Given the description of an element on the screen output the (x, y) to click on. 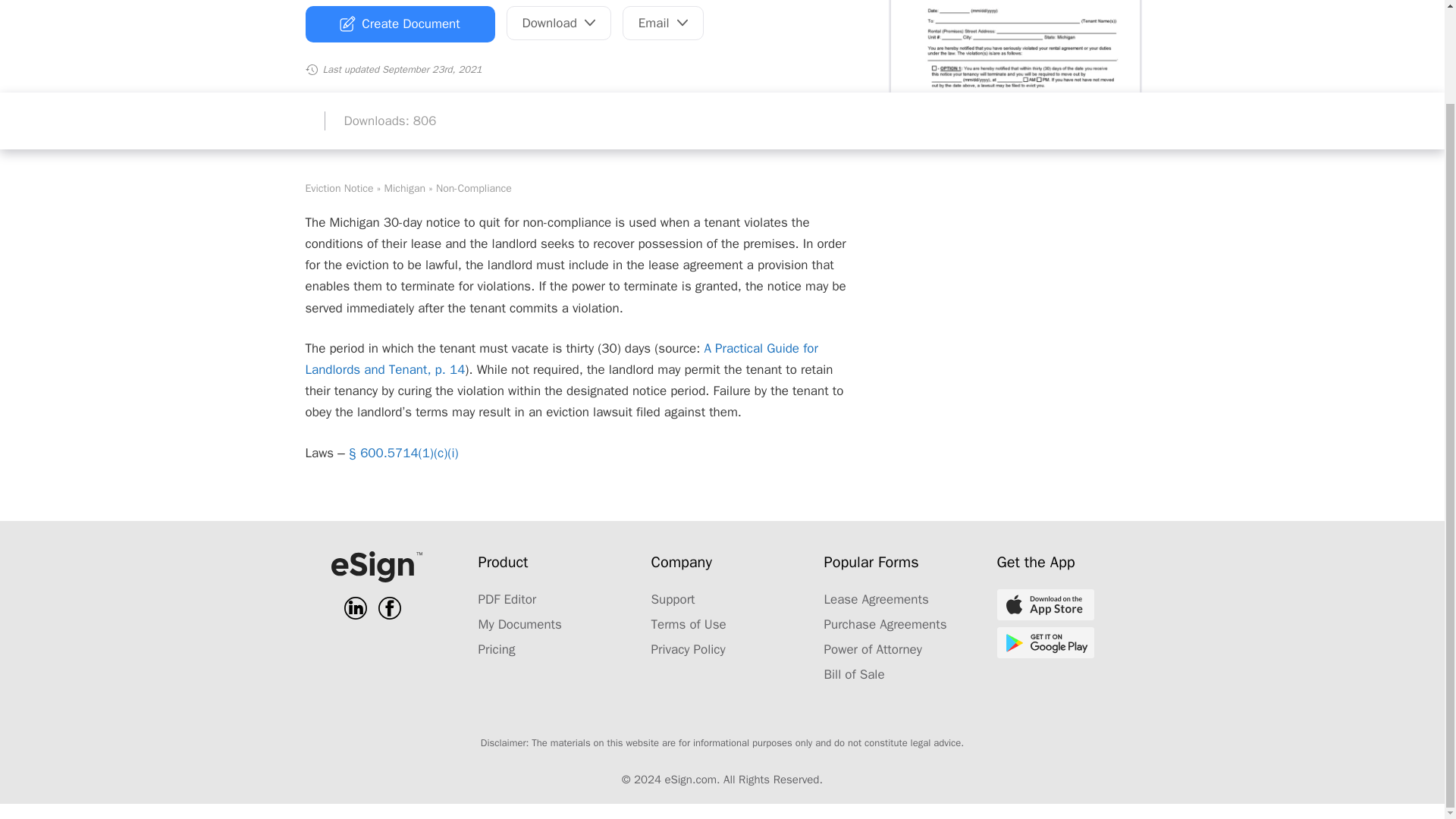
Email (663, 22)
Apple Store icon (1044, 603)
Google Play Store icon (1044, 642)
Eviction Notice (338, 187)
Create Document (399, 23)
A Practical Guide for Landlords and Tenant, p. 14 (560, 358)
Michigan (405, 187)
PDF Editor (506, 599)
Download (558, 22)
